Given the description of an element on the screen output the (x, y) to click on. 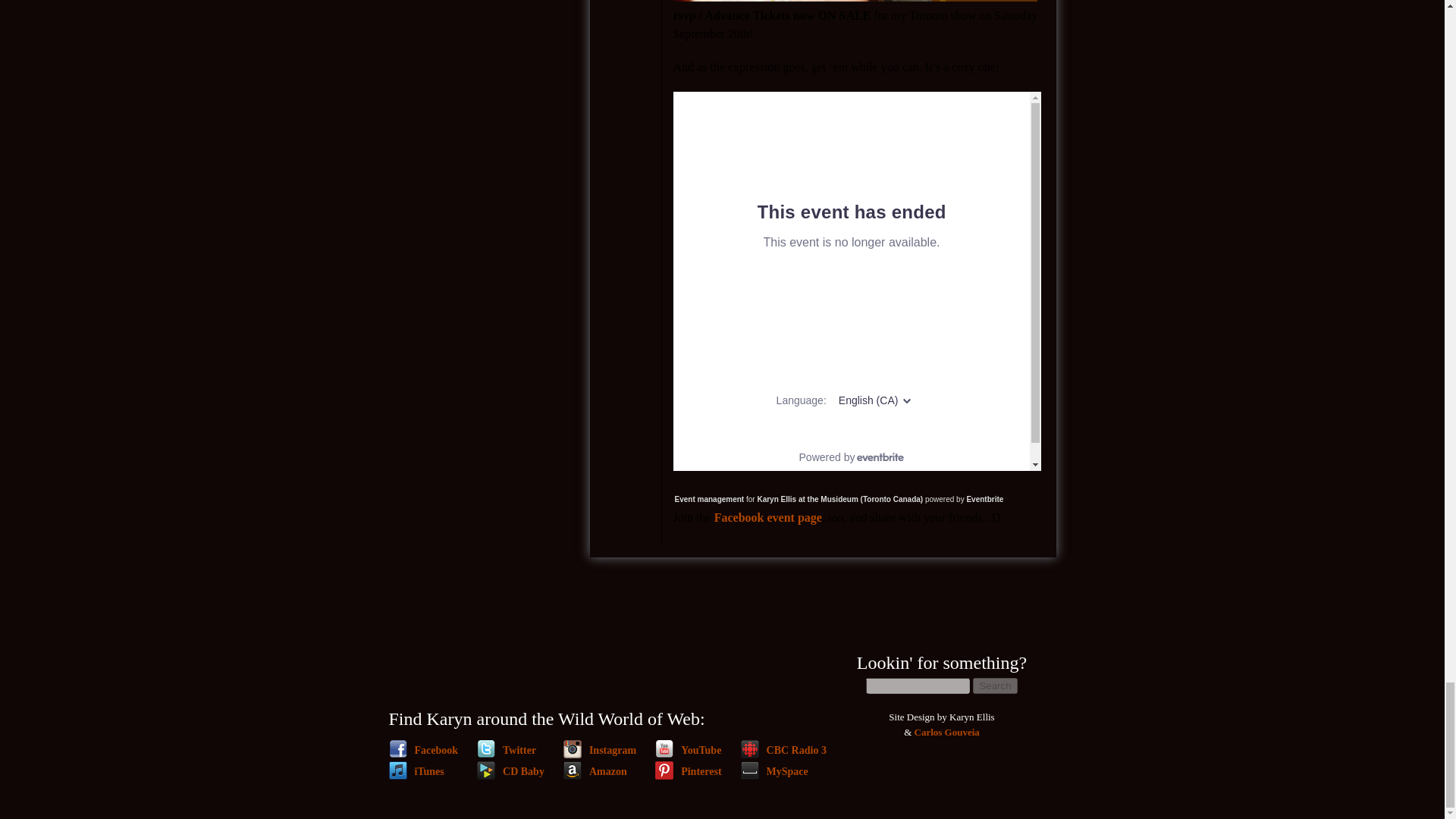
Search (994, 685)
